Given the description of an element on the screen output the (x, y) to click on. 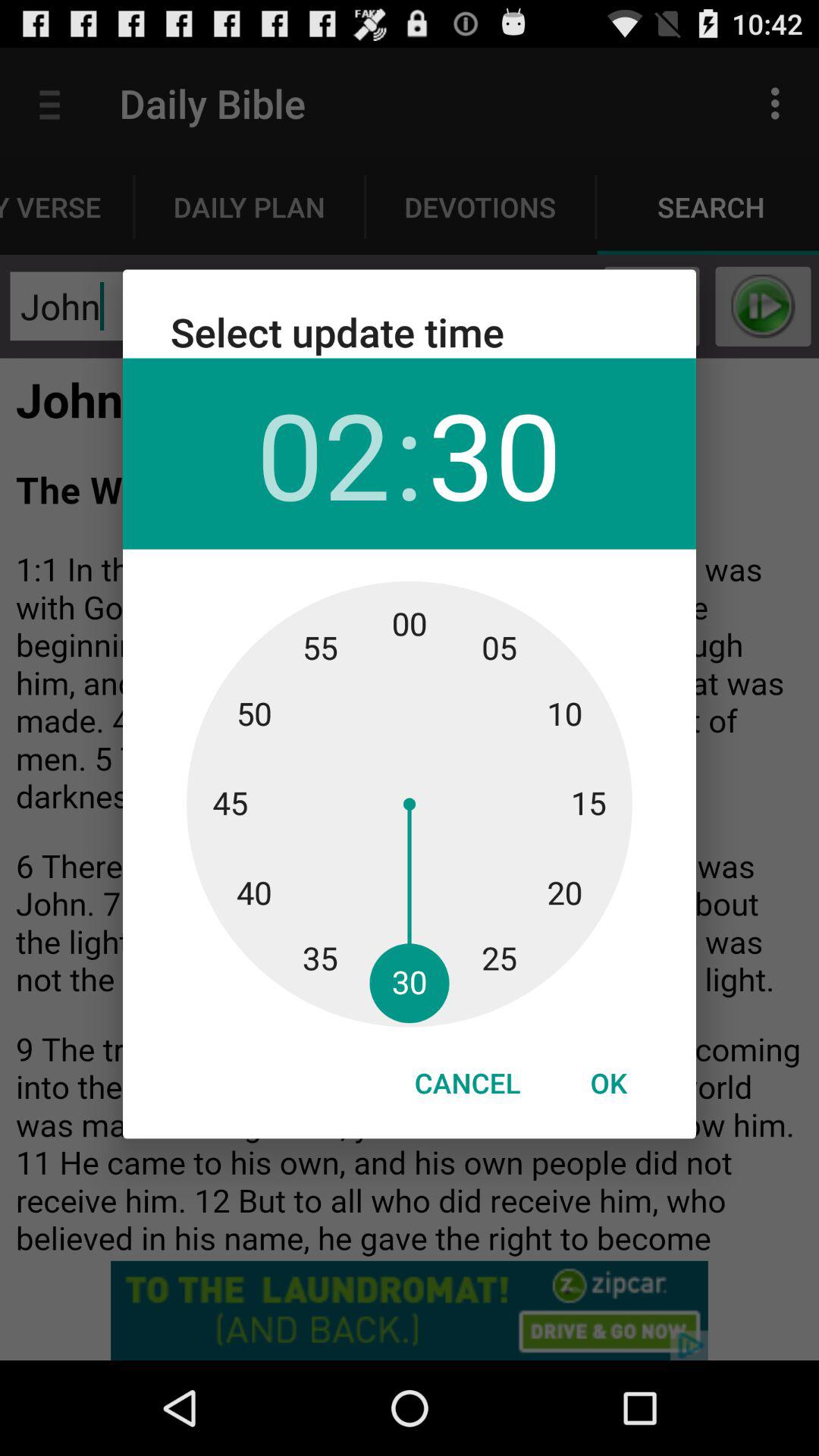
select cancel item (467, 1082)
